Given the description of an element on the screen output the (x, y) to click on. 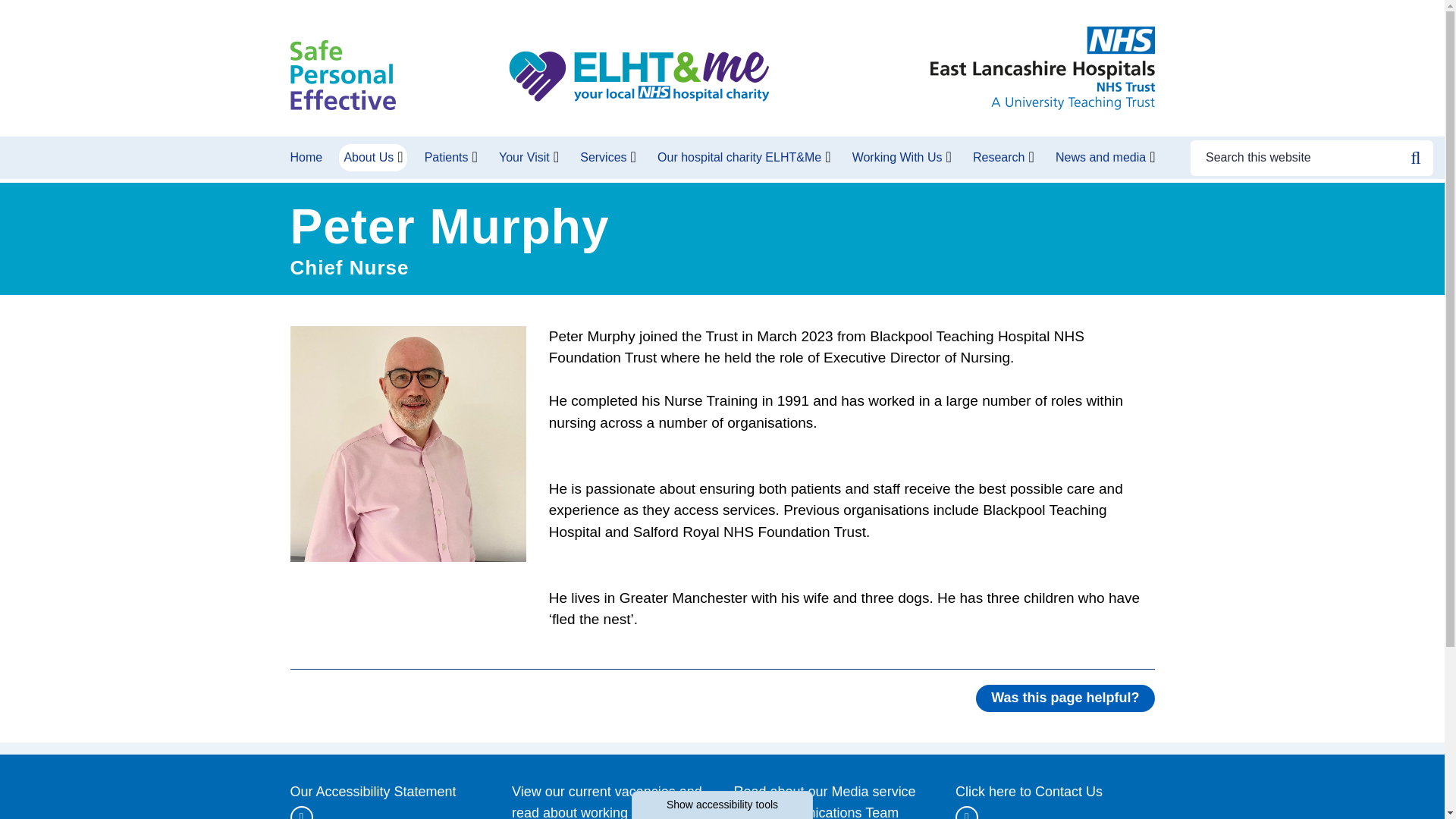
Home (307, 157)
Donate to support your hospital charity  (638, 77)
About Us (368, 157)
